Given the description of an element on the screen output the (x, y) to click on. 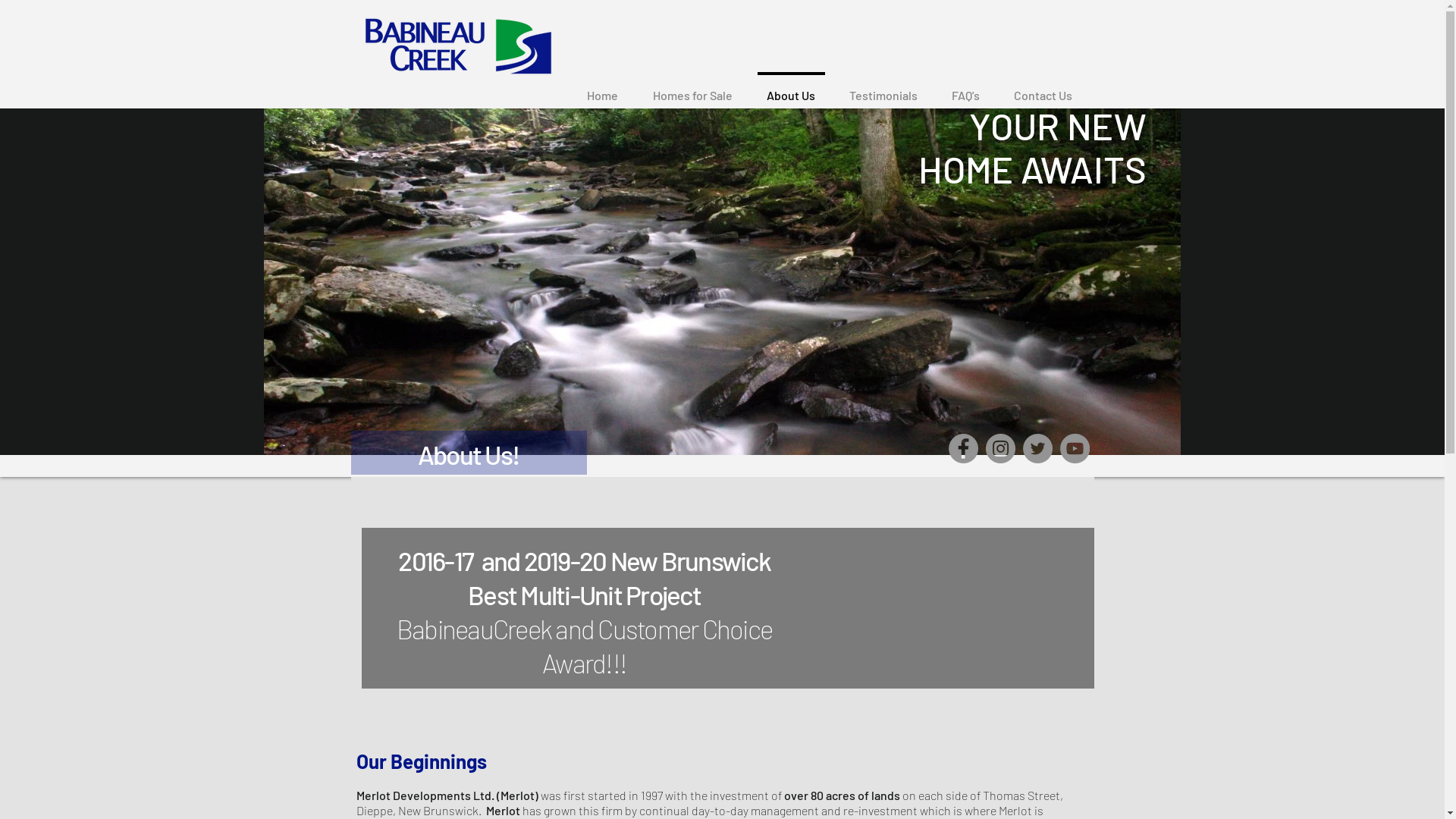
Homes for Sale Element type: text (692, 88)
Testimonials Element type: text (883, 88)
Contact Us Element type: text (1042, 88)
FAQ's Element type: text (965, 88)
Home Element type: text (601, 88)
About Us Element type: text (790, 88)
